Given the description of an element on the screen output the (x, y) to click on. 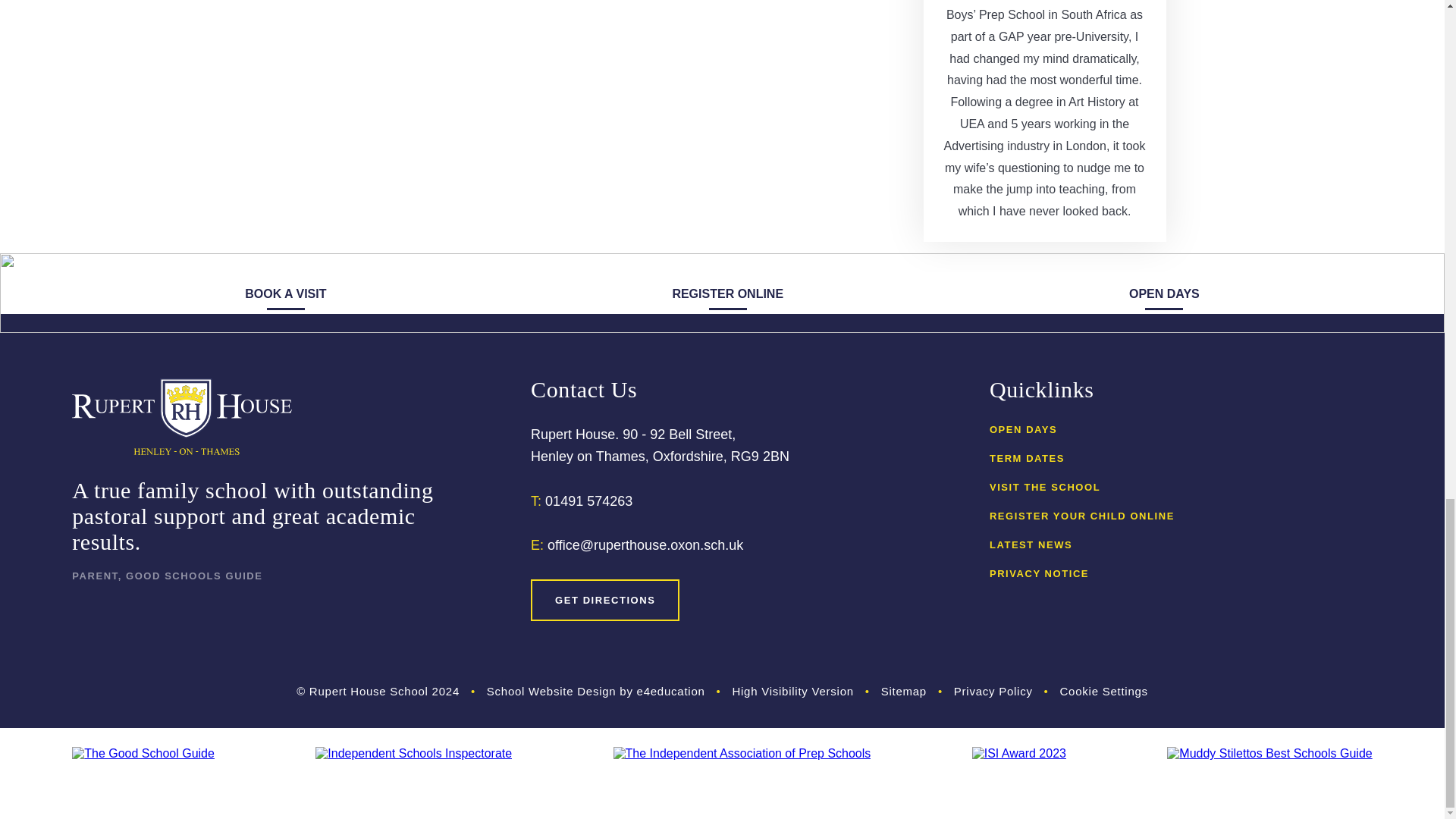
Cookie Settings (1103, 690)
